Given the description of an element on the screen output the (x, y) to click on. 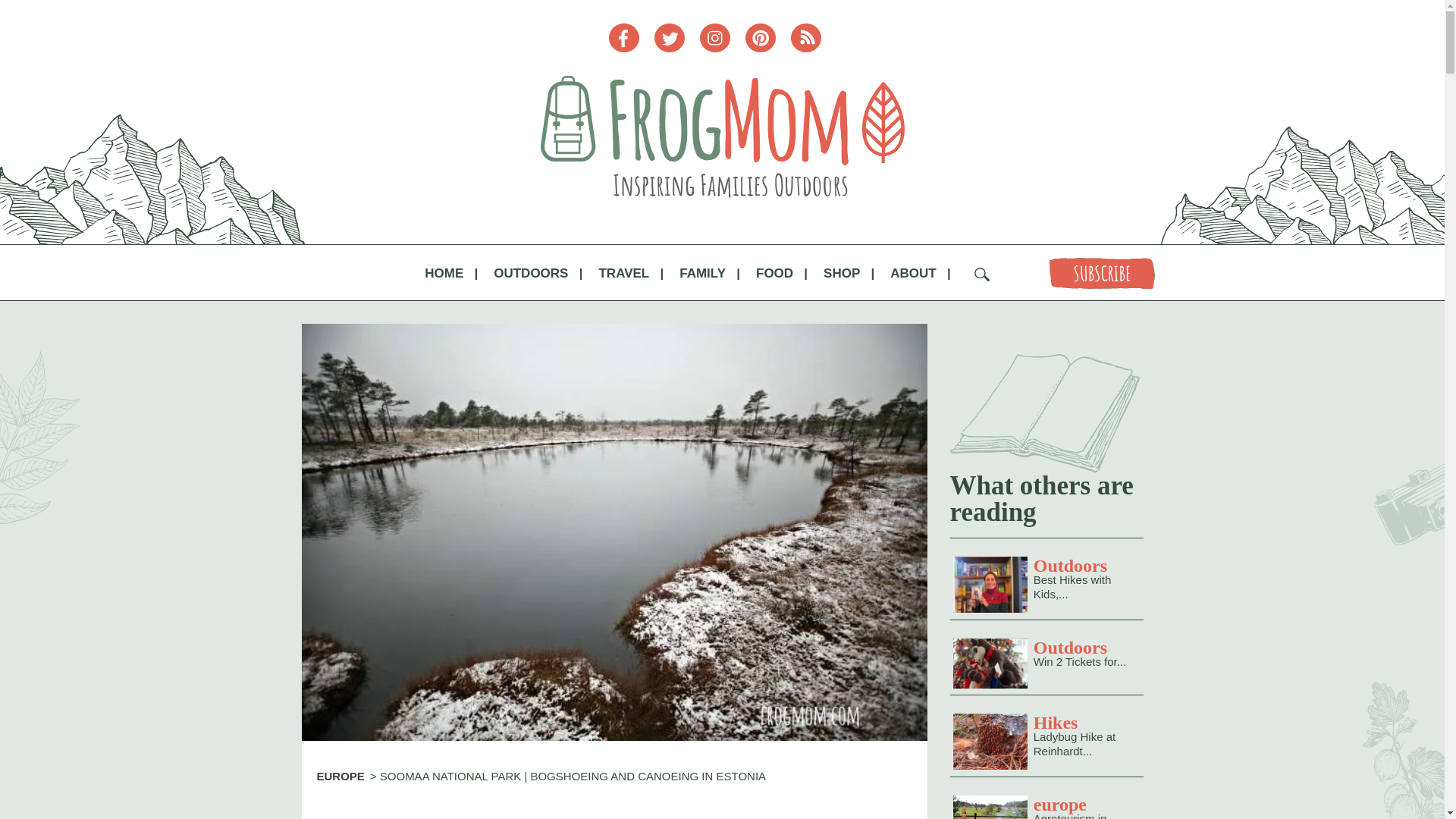
Win 2 Tickets for... (1079, 661)
Best Hikes with Kids,... (989, 583)
Best Hikes with Kids,... (1072, 586)
HOME (444, 273)
OUTDOORS (530, 273)
Win 2 Tickets for... (989, 662)
Ladybug Hike at Reinhardt... (1074, 743)
Ladybug Hike at Reinhardt... (989, 739)
